Given the description of an element on the screen output the (x, y) to click on. 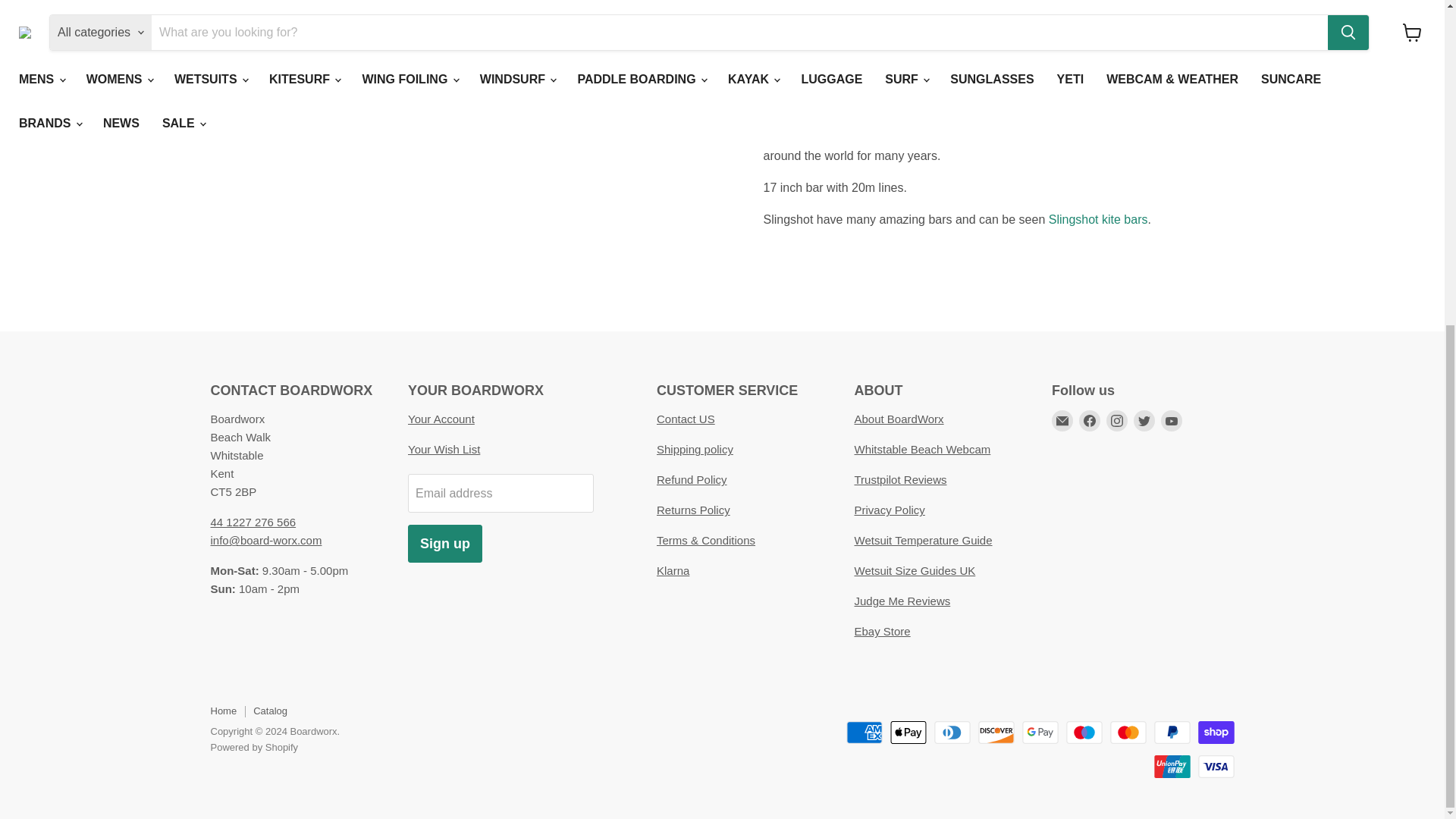
Privacy Policy (888, 509)
Ebay Store (881, 631)
Delivery Information (694, 449)
Wetsuit Size Guide UK (914, 570)
Klarna (672, 570)
Wetsuit Temperature Guide (922, 540)
Facebook (1089, 420)
About Boardworx (898, 418)
Instagram (1116, 420)
Email (1062, 420)
